Given the description of an element on the screen output the (x, y) to click on. 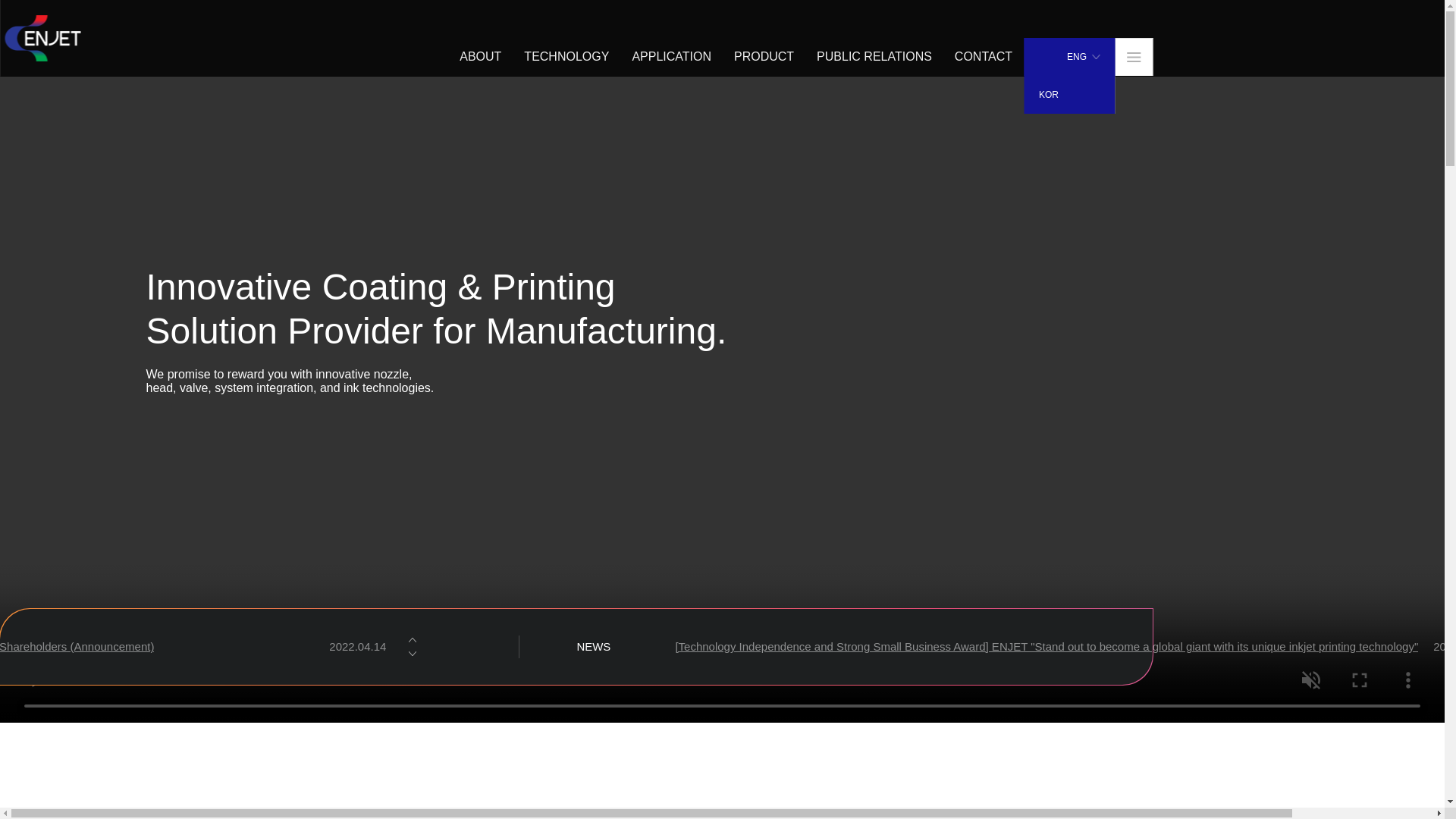
PRODUCT (763, 56)
KOR (1069, 94)
PUBLIC RELATIONS (873, 56)
TECHNOLOGY (566, 56)
ENG (1069, 56)
CONTACT (983, 56)
APPLICATION (671, 56)
ABOUT (480, 56)
